Given the description of an element on the screen output the (x, y) to click on. 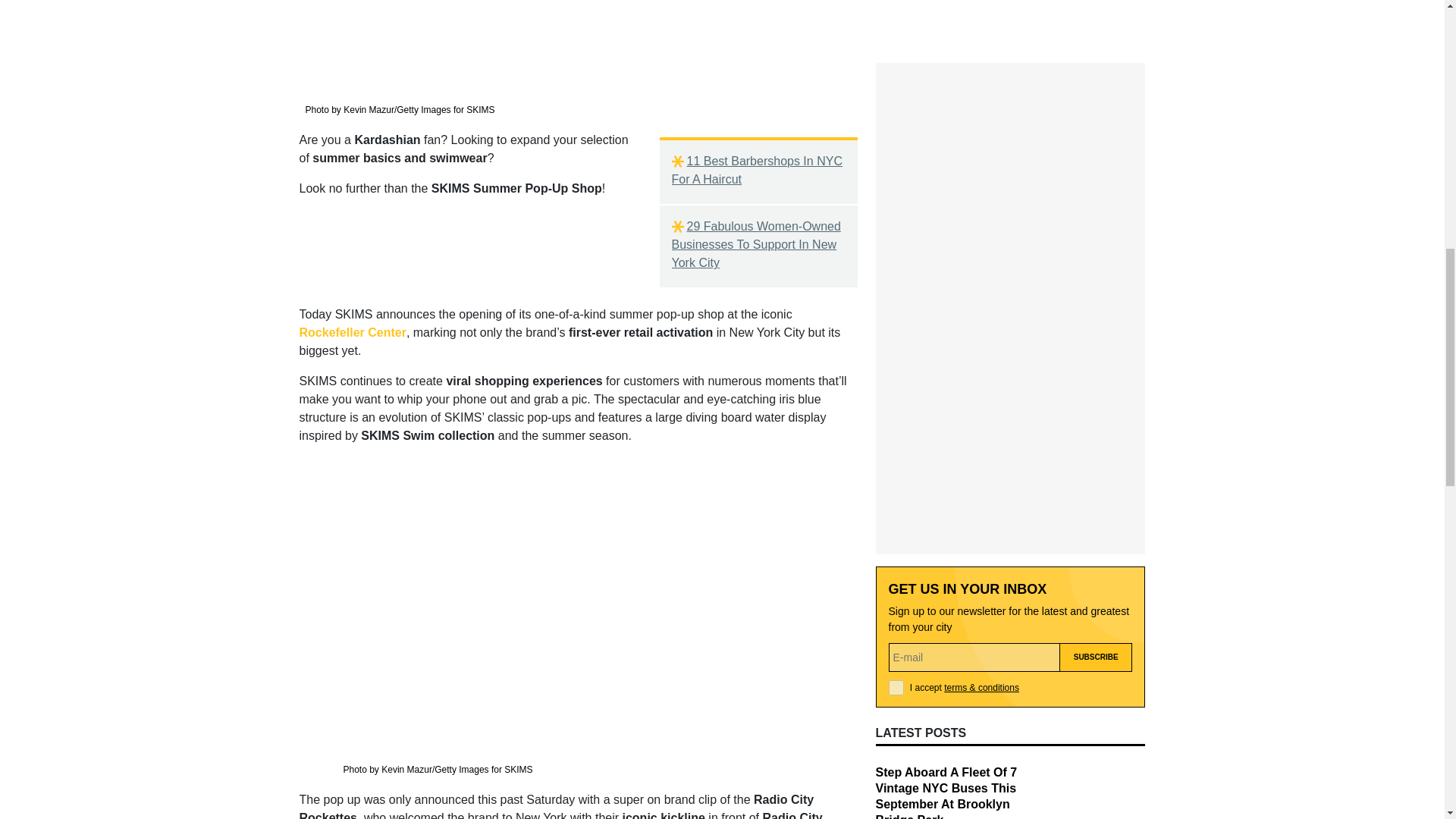
11 Best Barbershops In NYC For A Haircut (758, 170)
1 (896, 371)
Subscribe (1095, 340)
AUGUST 29, 2024 (913, 628)
AUGUST 29, 2024 (913, 529)
Subscribe (1095, 340)
Rockefeller Center (352, 332)
